Given the description of an element on the screen output the (x, y) to click on. 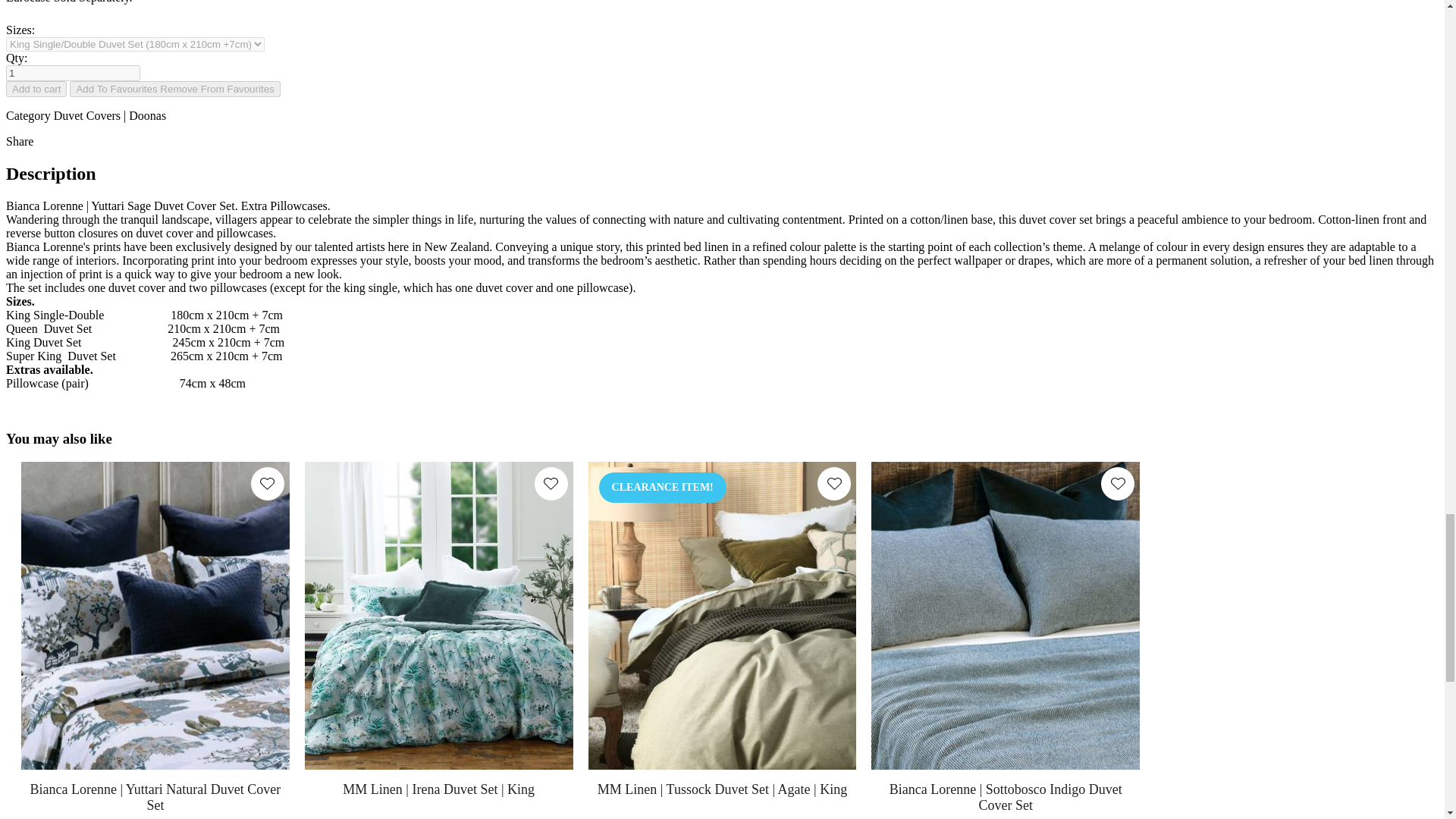
Add To Favourites (174, 89)
1 (72, 73)
